Given the description of an element on the screen output the (x, y) to click on. 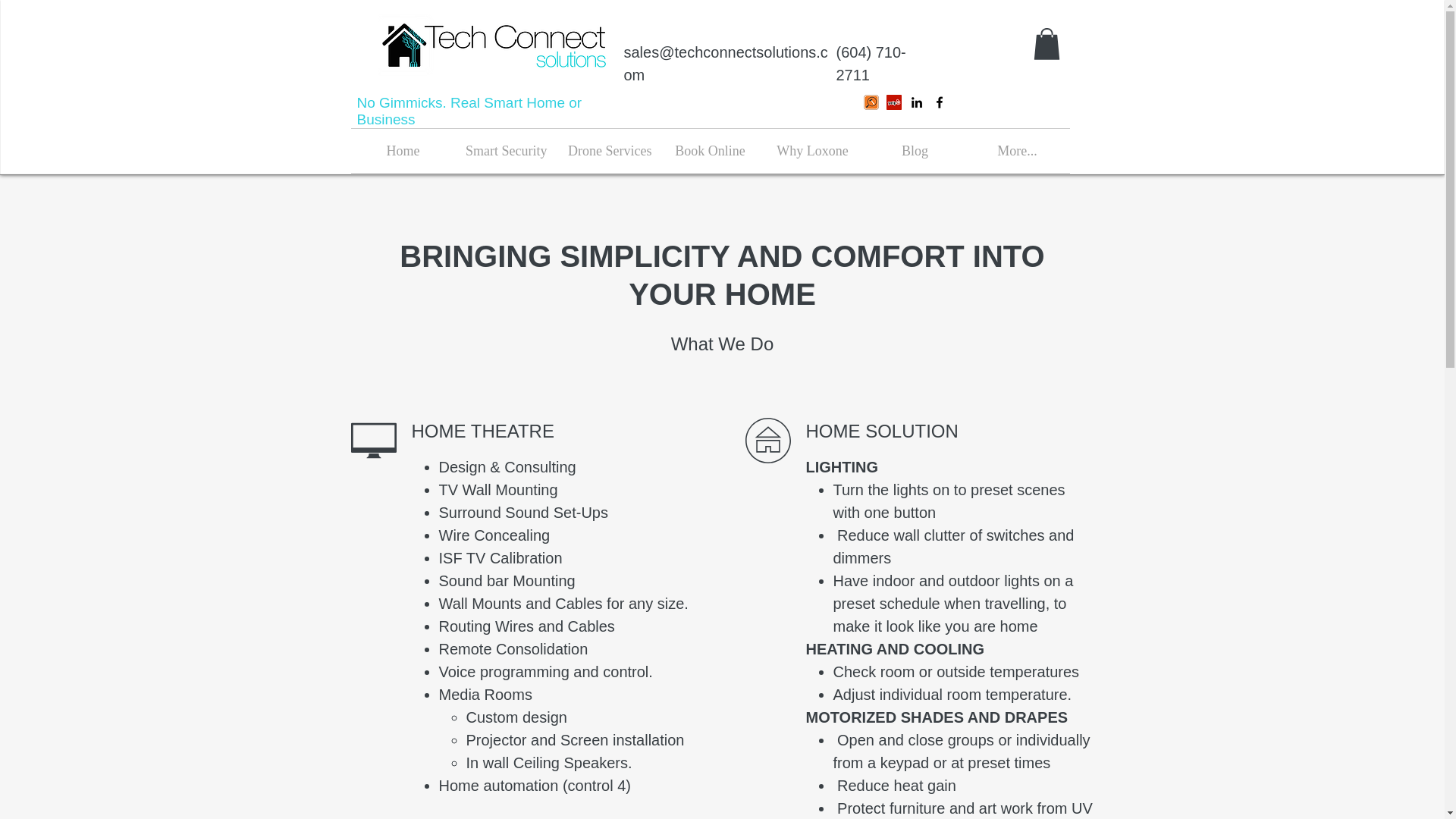
Drone Services (607, 150)
Why Loxone (812, 150)
Blog (914, 150)
Book Online (710, 150)
Smart Security (505, 150)
Home (403, 150)
